Given the description of an element on the screen output the (x, y) to click on. 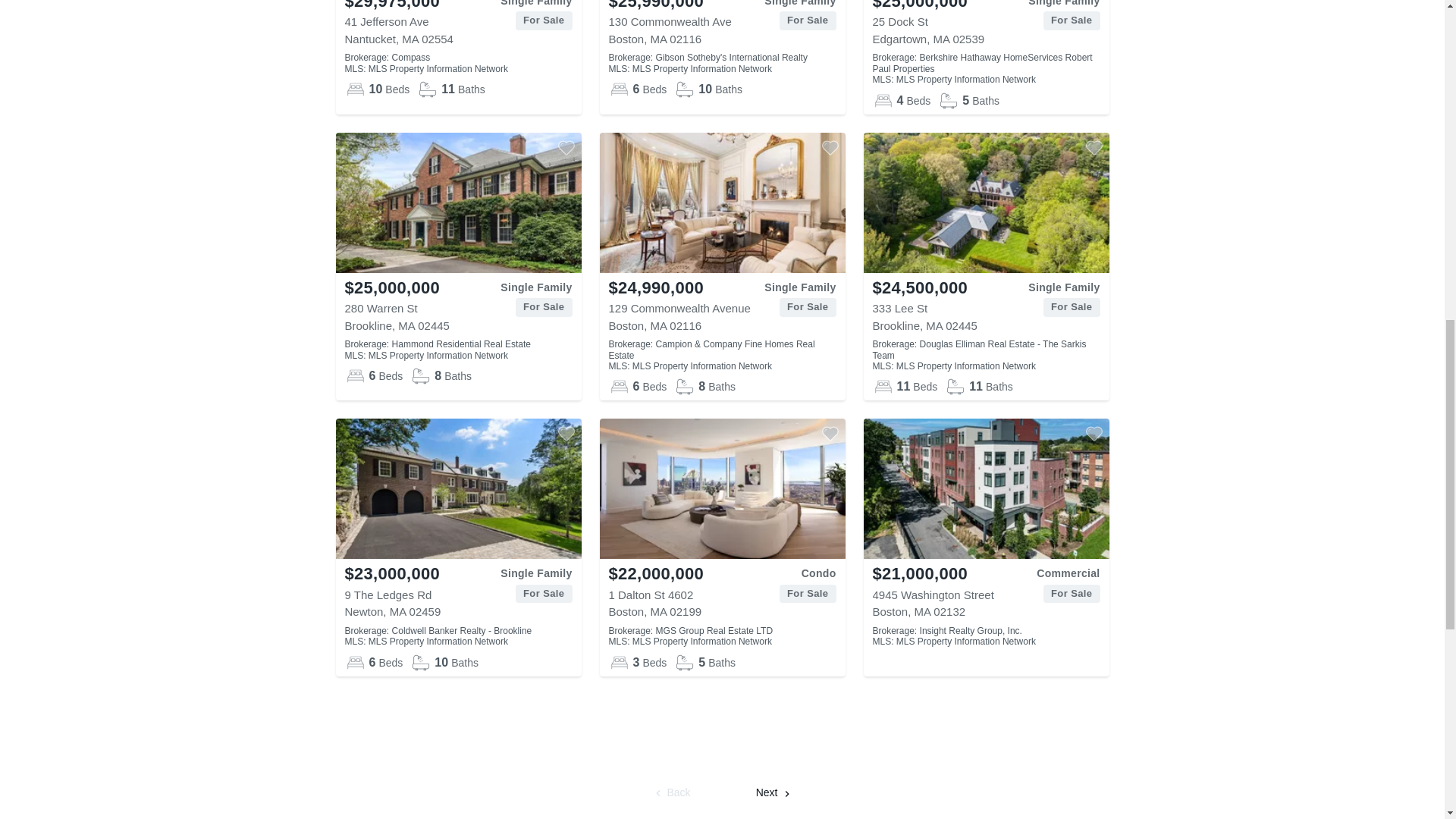
Save to favorites (1093, 433)
Save to favorites (828, 147)
Next page (774, 792)
Save to favorites (565, 147)
Save to favorites (1093, 147)
Save to favorites (565, 433)
Save to favorites (828, 433)
